Given the description of an element on the screen output the (x, y) to click on. 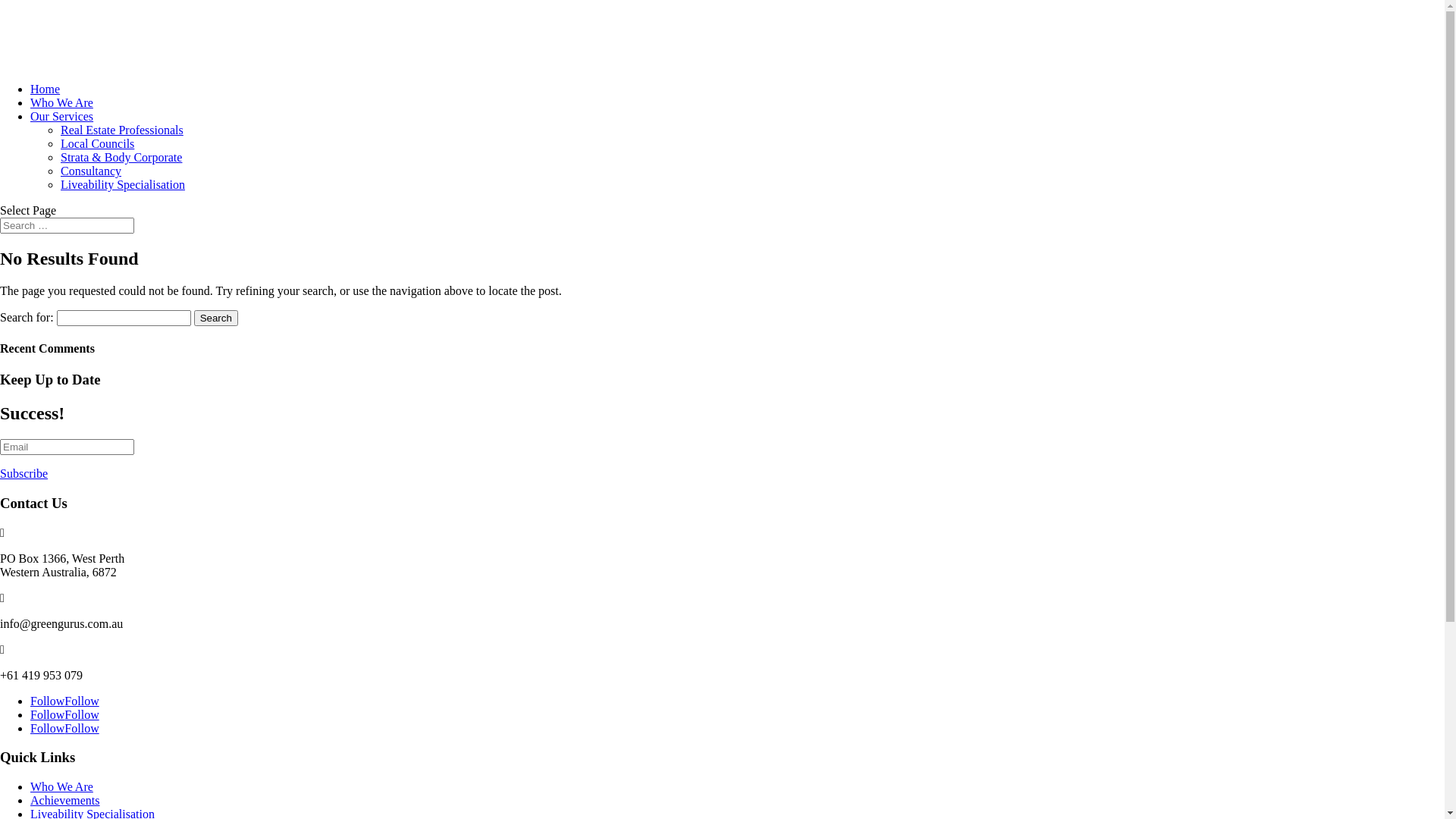
Strata & Body Corporate Element type: text (121, 156)
Follow Element type: text (47, 714)
Home Element type: text (44, 88)
Follow Element type: text (81, 700)
Achievements Element type: text (65, 799)
Who We Are Element type: text (61, 102)
Our Services Element type: text (61, 115)
Follow Element type: text (81, 727)
Search for: Element type: hover (67, 225)
Follow Element type: text (47, 727)
Liveability Specialisation Element type: text (122, 184)
Local Councils Element type: text (97, 143)
Search Element type: text (216, 318)
Who We Are Element type: text (61, 786)
Follow Element type: text (81, 714)
Consultancy Element type: text (90, 170)
Real Estate Professionals Element type: text (121, 129)
Subscribe Element type: text (23, 473)
Follow Element type: text (47, 700)
